Given the description of an element on the screen output the (x, y) to click on. 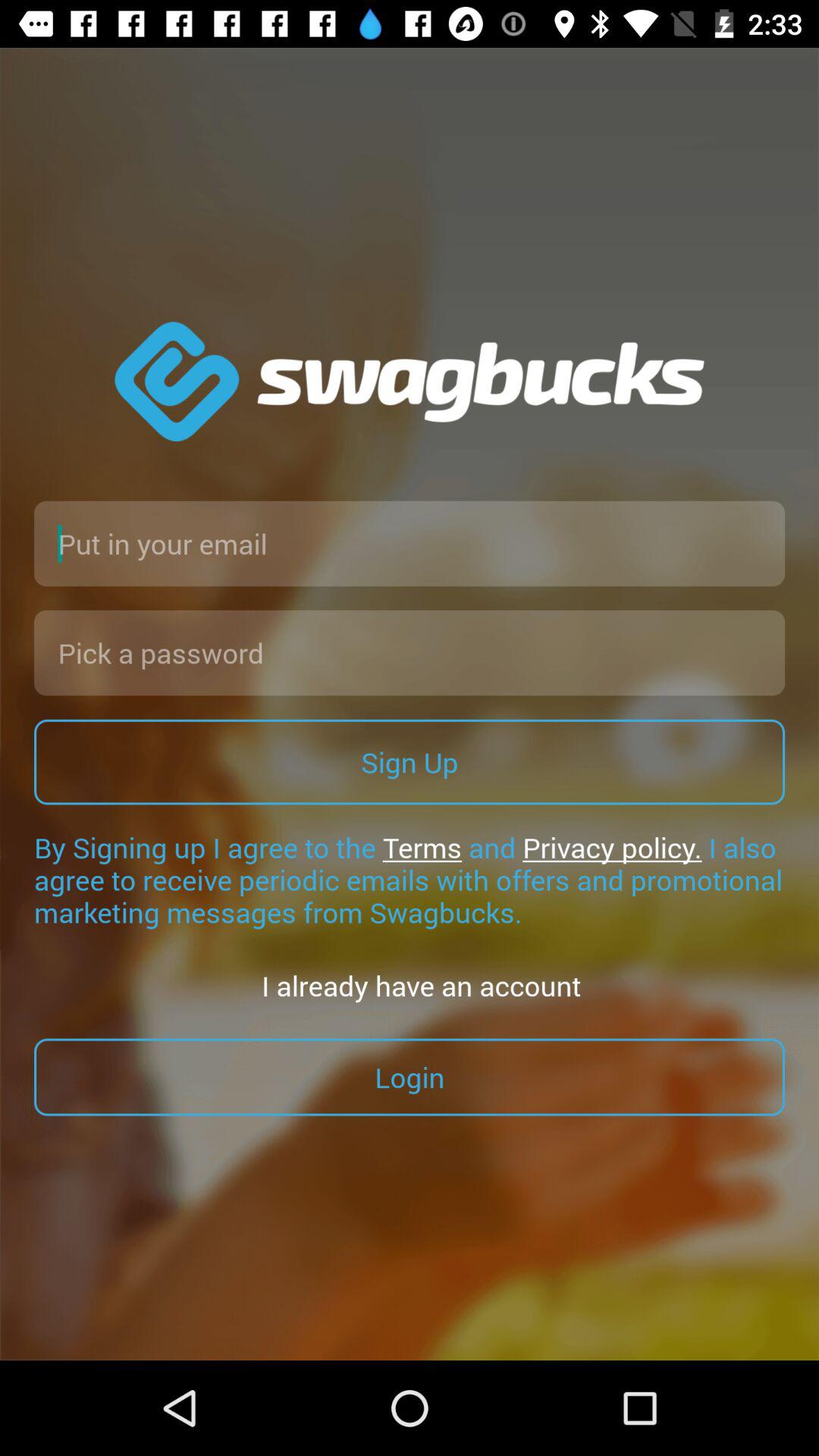
open the sign up item (409, 761)
